Given the description of an element on the screen output the (x, y) to click on. 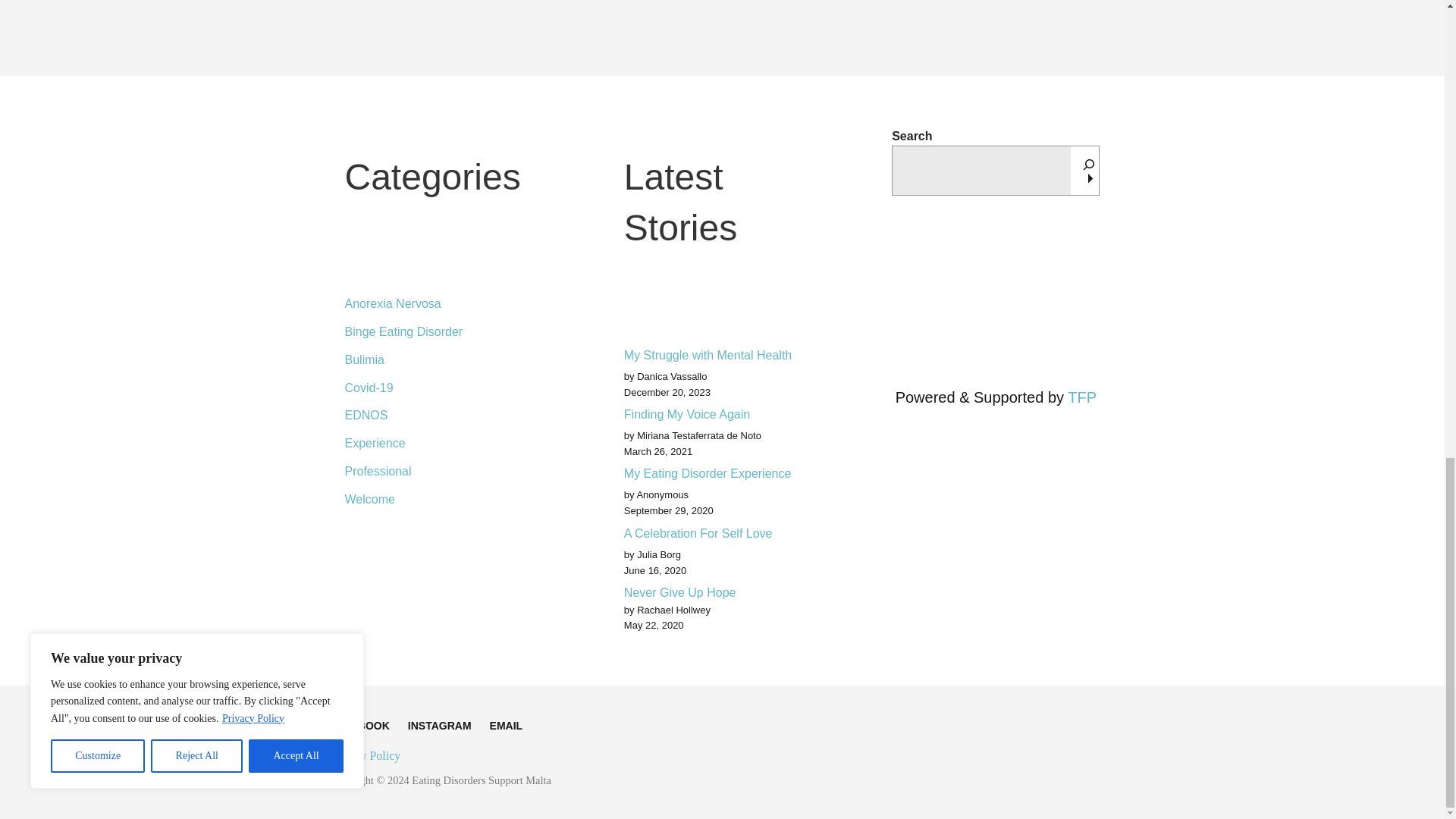
A Celebration For Self Love (722, 533)
My Eating Disorder Experience (722, 474)
Covid-19 (447, 387)
Welcome (447, 496)
Anorexia Nervosa (447, 304)
Finding My Voice Again (722, 414)
Professional (447, 471)
Bulimia (447, 359)
TFP (1081, 397)
My Struggle with Mental Health (722, 355)
